Given the description of an element on the screen output the (x, y) to click on. 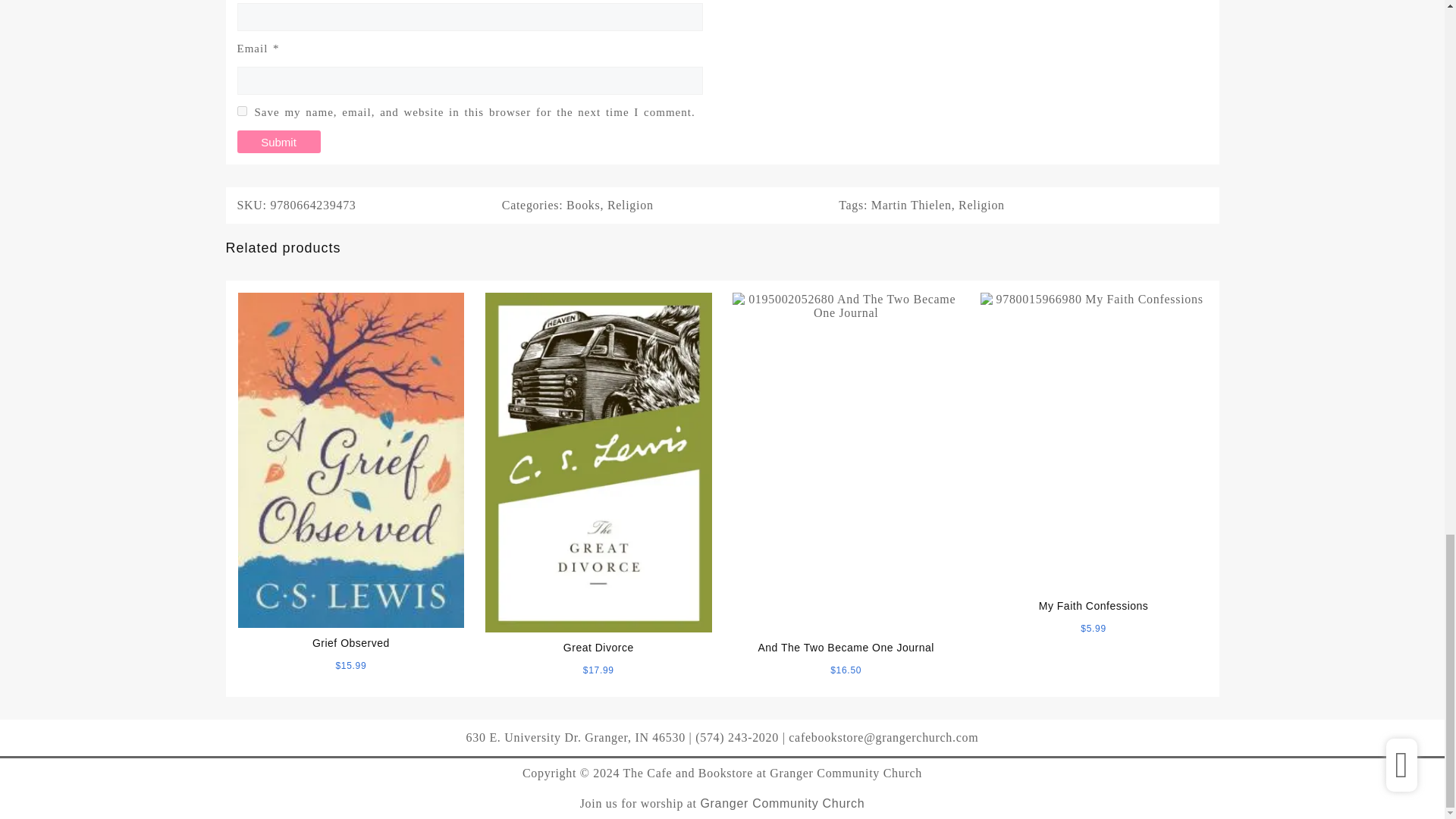
yes (240, 111)
Submit (277, 141)
